Given the description of an element on the screen output the (x, y) to click on. 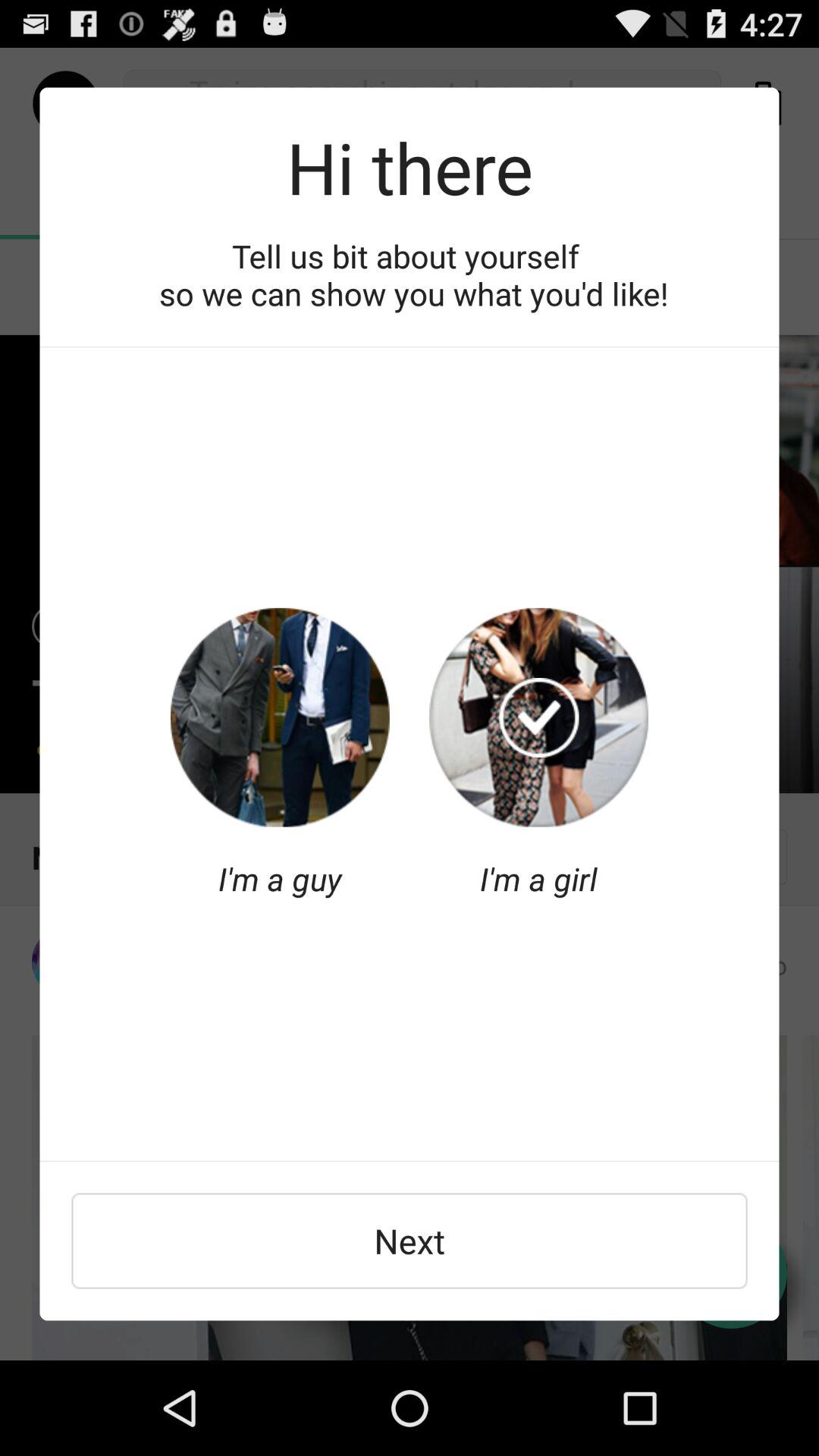
to select the anyone of the option (279, 716)
